Given the description of an element on the screen output the (x, y) to click on. 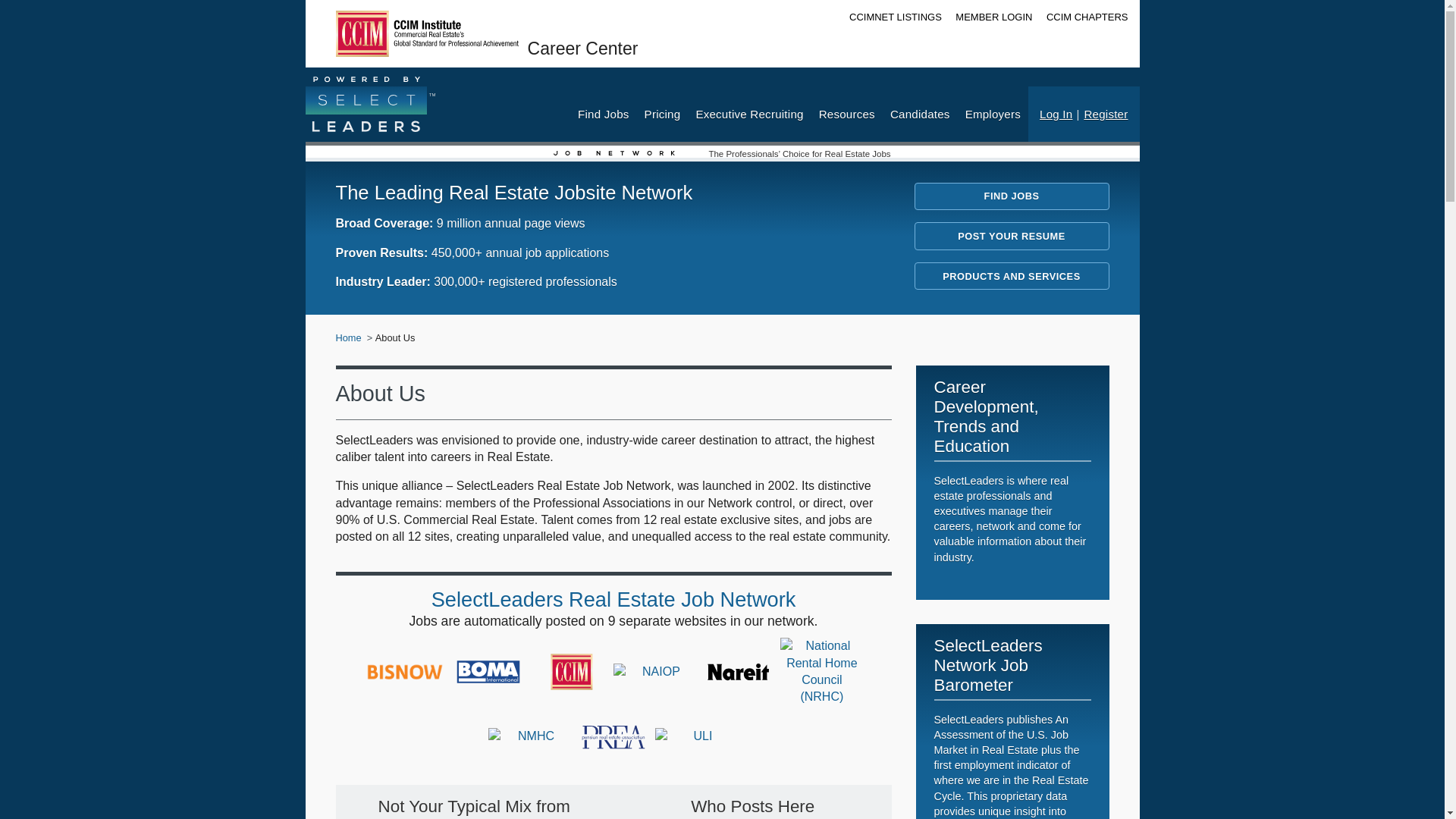
SelectLeaders Real Estate Job Network (613, 599)
Employers (992, 113)
NAREIT Career Center - NAREIT Jobs - Job Network (738, 671)
ULI Career Center - ULI Jobs - Job Network (696, 736)
POST YOUR RESUME (1011, 235)
CCIMNET LISTINGS (895, 16)
NMHC Career Center - NMHC Jobs - Job Network (529, 736)
Find Jobs (603, 113)
Candidates (920, 113)
CCIM Career Center - CCIM Jobs - Job Network (570, 671)
MEMBER LOGIN (993, 16)
CCIM CHAPTERS (1087, 16)
Register (1106, 113)
Home (347, 338)
FIND JOBS (1011, 196)
